Given the description of an element on the screen output the (x, y) to click on. 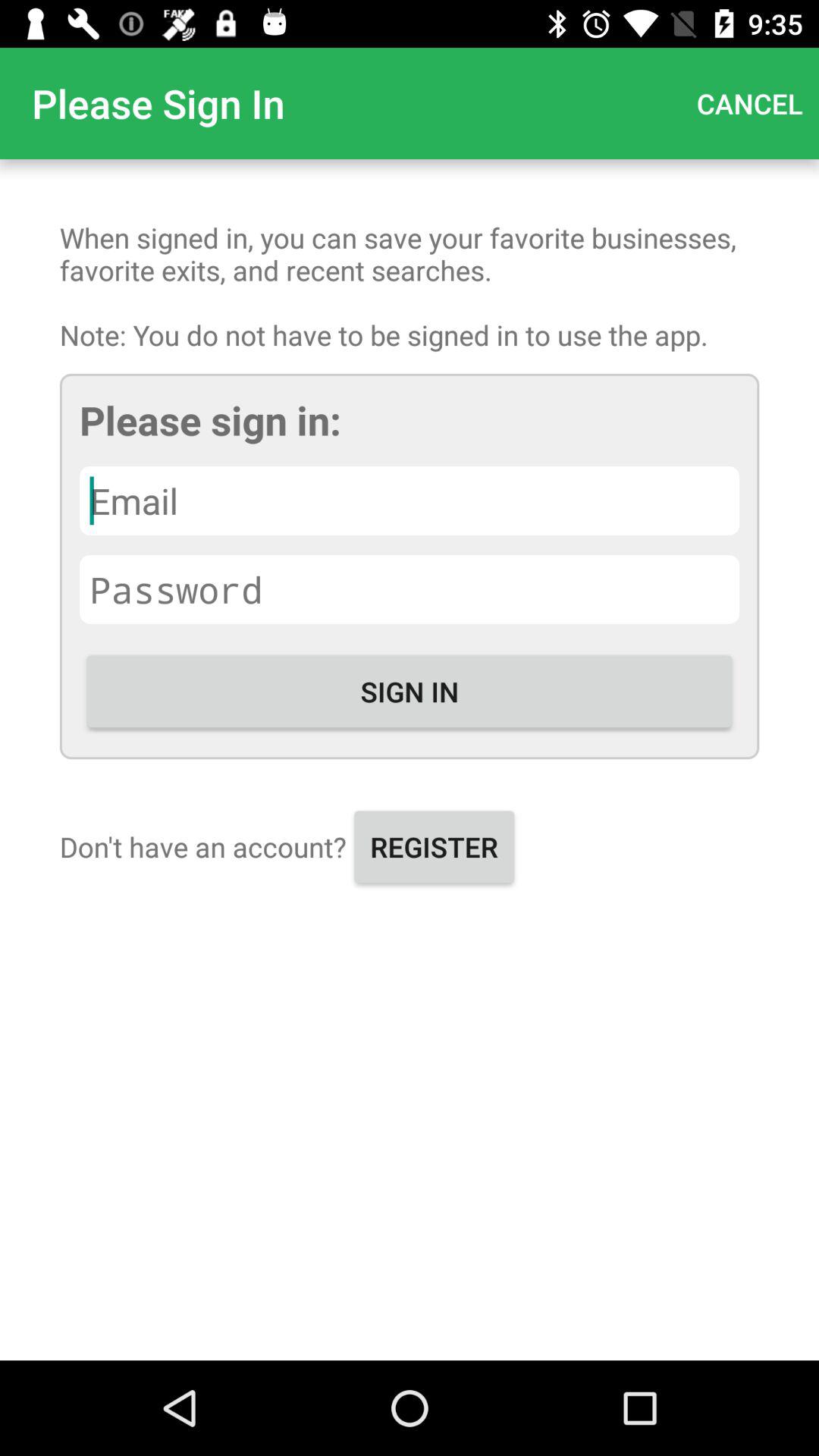
swipe to the register (434, 846)
